Given the description of an element on the screen output the (x, y) to click on. 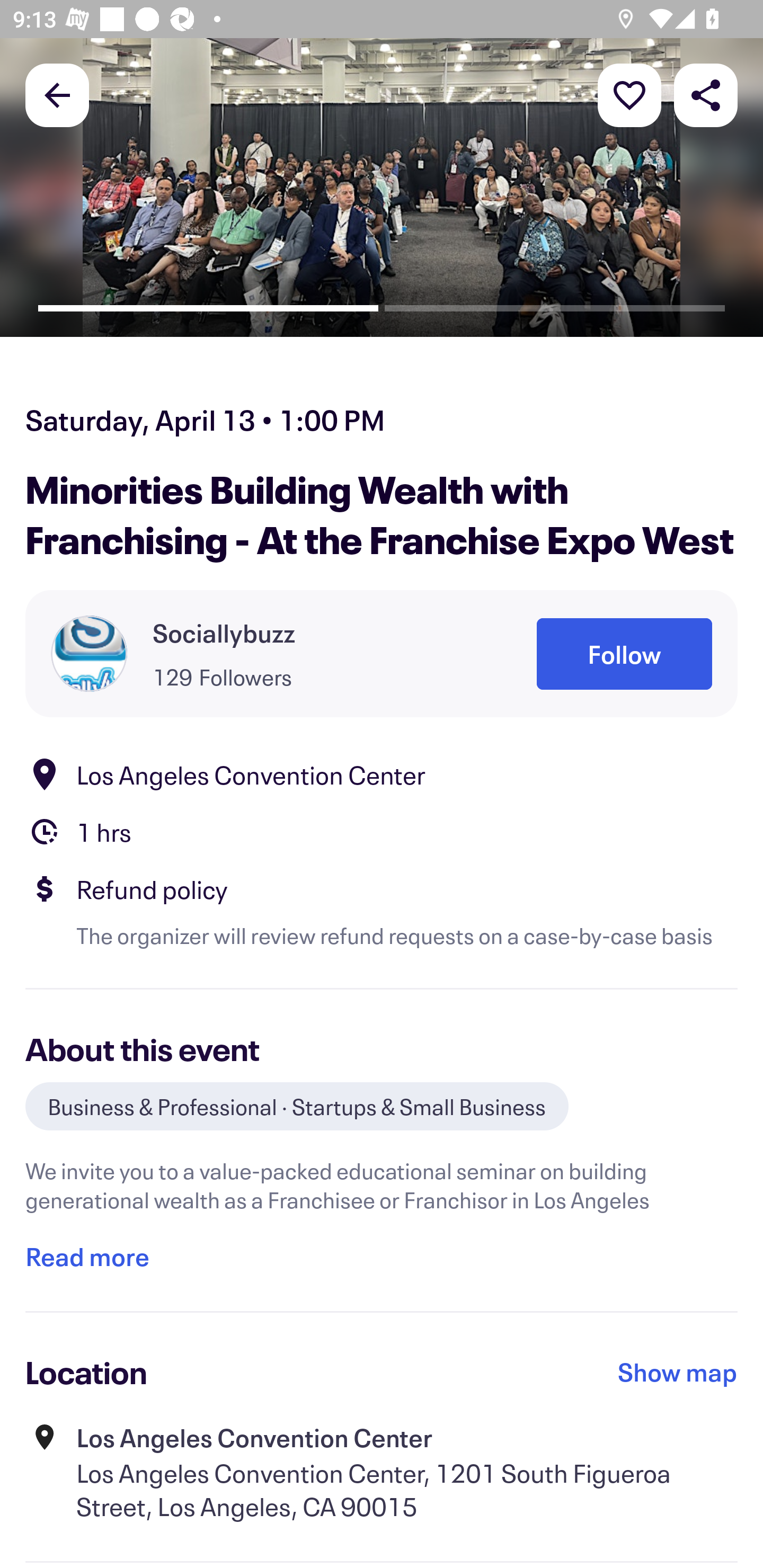
Back (57, 94)
More (629, 94)
Share (705, 94)
Sociallybuzz (223, 632)
Organizer profile picture (89, 653)
Follow (623, 654)
Location Los Angeles Convention Center (381, 774)
Read more (87, 1256)
Show map (677, 1371)
